Given the description of an element on the screen output the (x, y) to click on. 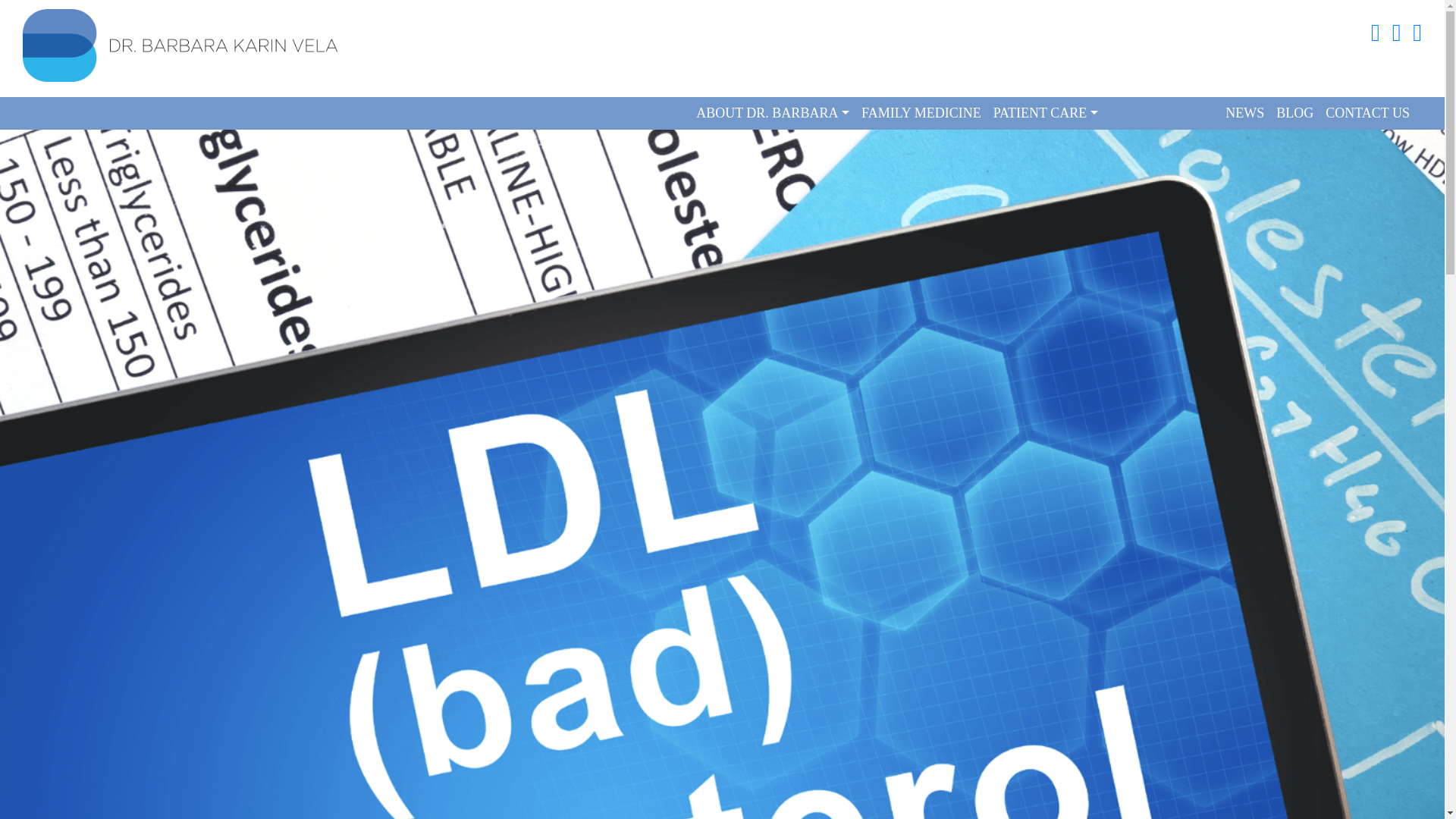
FAMILY MEDICINE (921, 113)
NEWS (1244, 113)
ABOUT DR. BARBARA (773, 113)
NEWS (1244, 113)
About Dr. Barbara (773, 113)
PATIENT CARE (1045, 113)
FAMILY MEDICINE (921, 113)
PATIENT CARE (1045, 113)
BLOG (1294, 113)
CONTACT US (1367, 113)
